Given the description of an element on the screen output the (x, y) to click on. 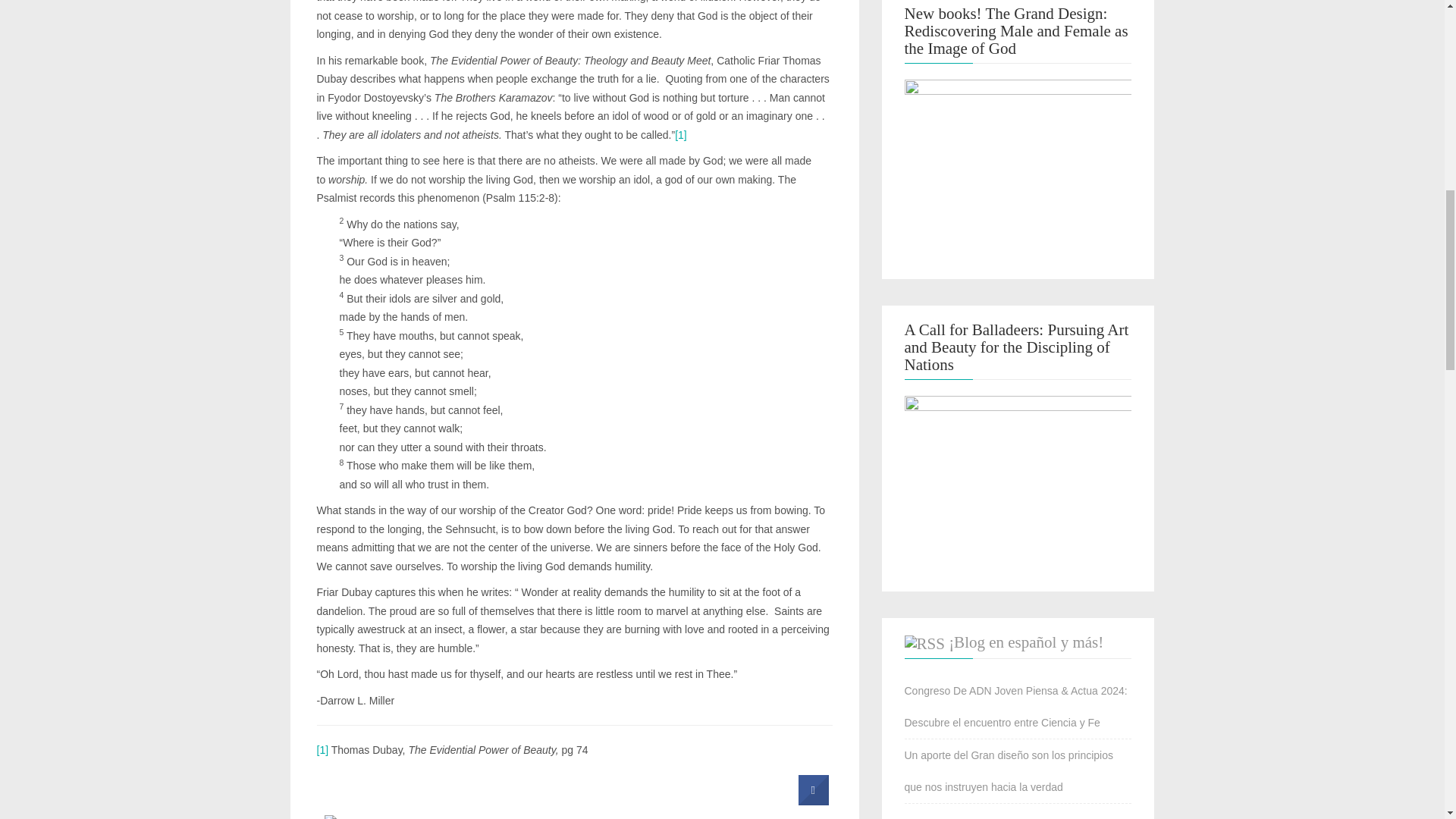
Share on Facebook (812, 800)
